Given the description of an element on the screen output the (x, y) to click on. 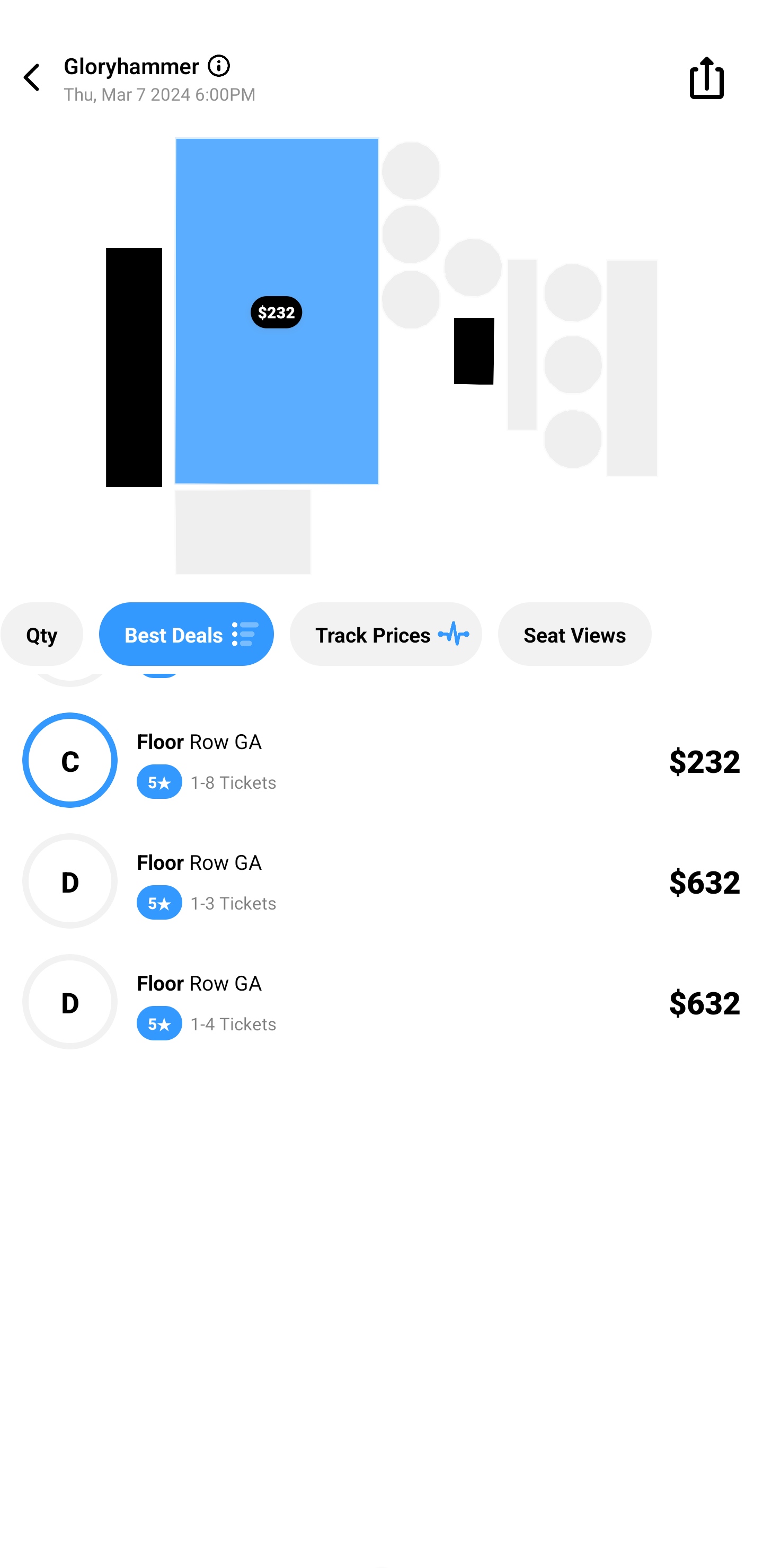
$232 (276, 311)
Qty (41, 634)
Best Deals (186, 634)
Track Prices (385, 634)
Seat Views (574, 634)
